Given the description of an element on the screen output the (x, y) to click on. 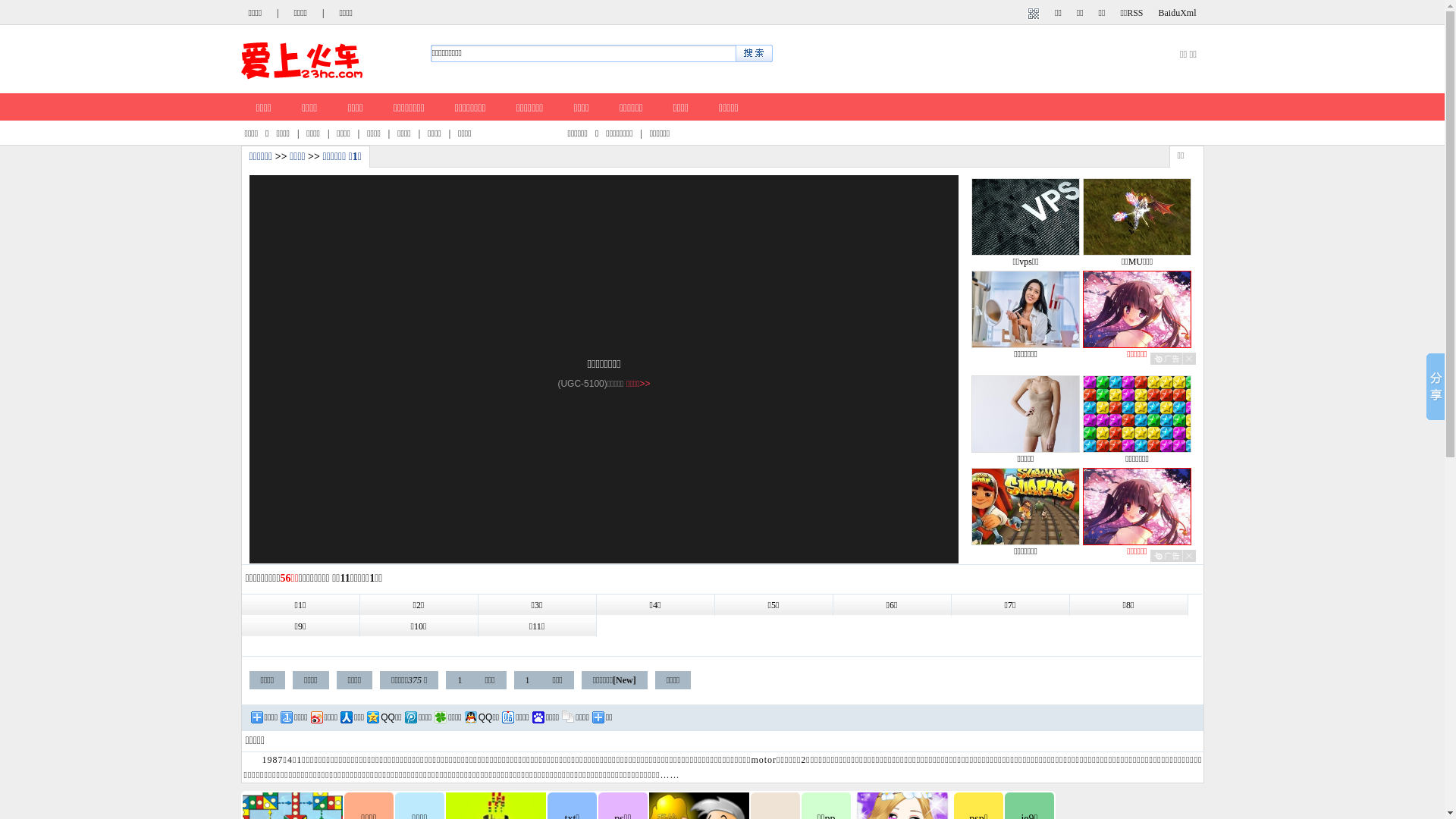
BaiduXml Element type: text (1177, 12)
1 Element type: text (459, 679)
1 Element type: text (527, 679)
